Given the description of an element on the screen output the (x, y) to click on. 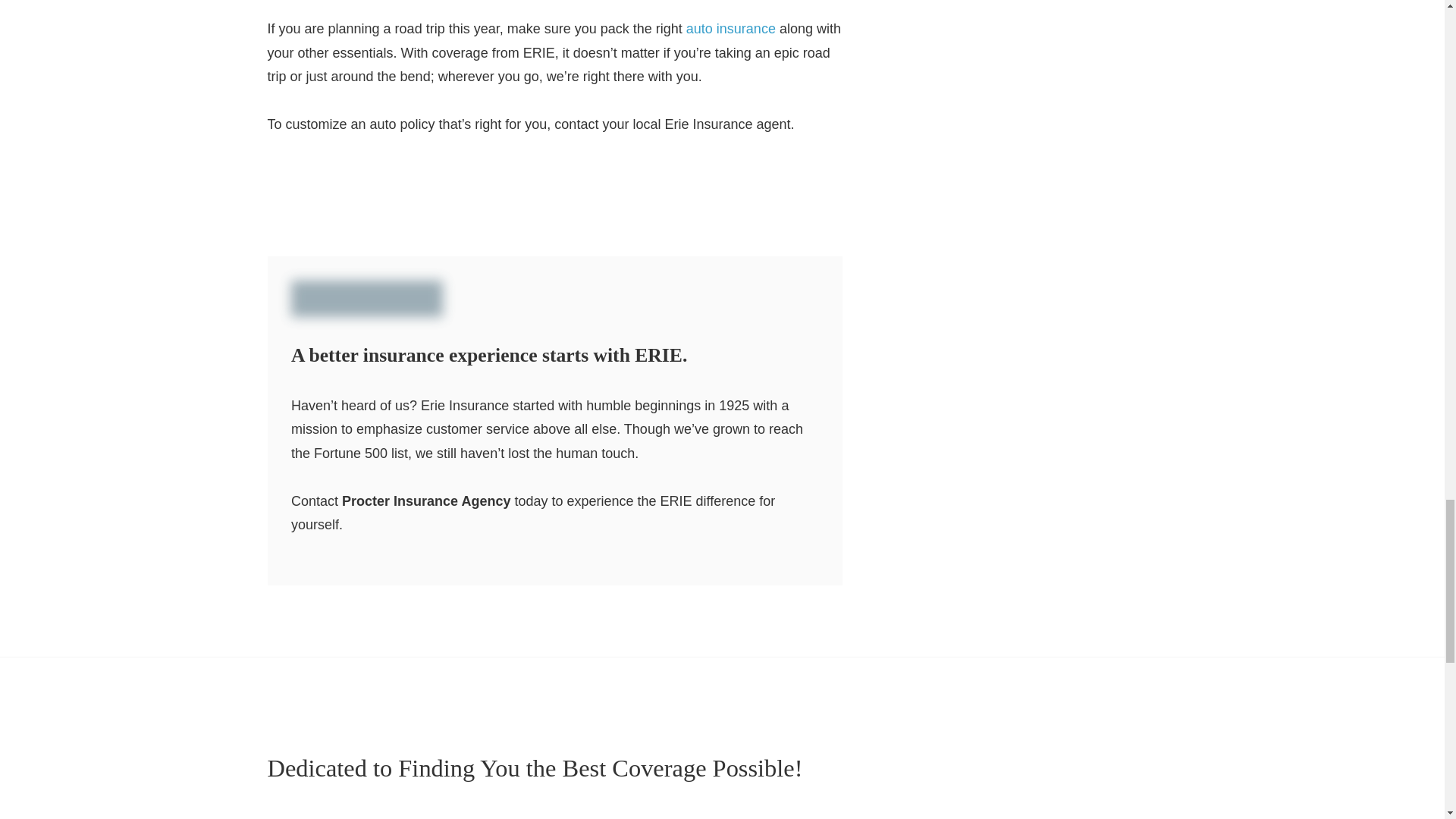
Procter Insurance Agency Logo (1072, 763)
